Given the description of an element on the screen output the (x, y) to click on. 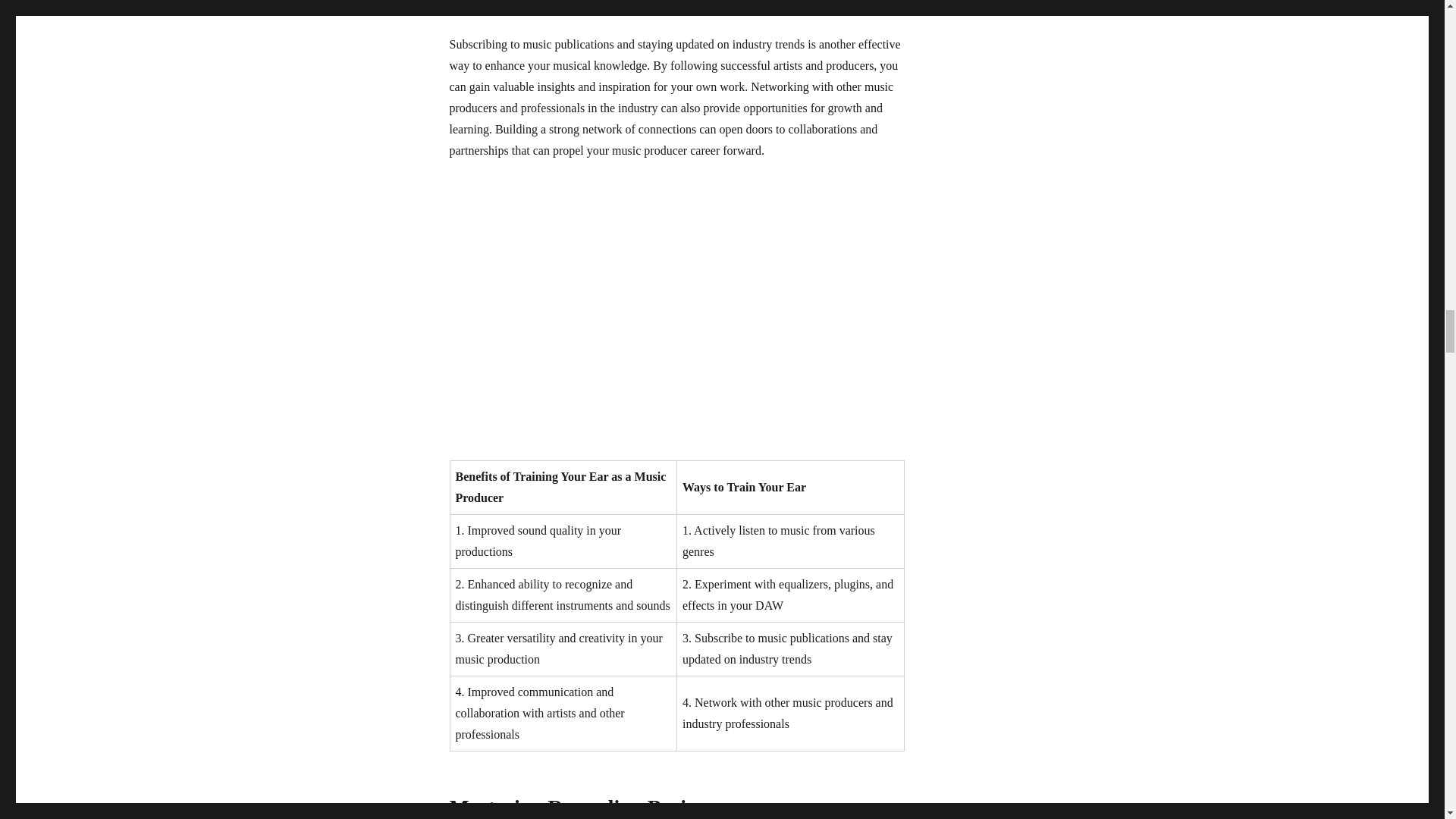
Hard Truths about a Career in Music Production. (676, 310)
